Given the description of an element on the screen output the (x, y) to click on. 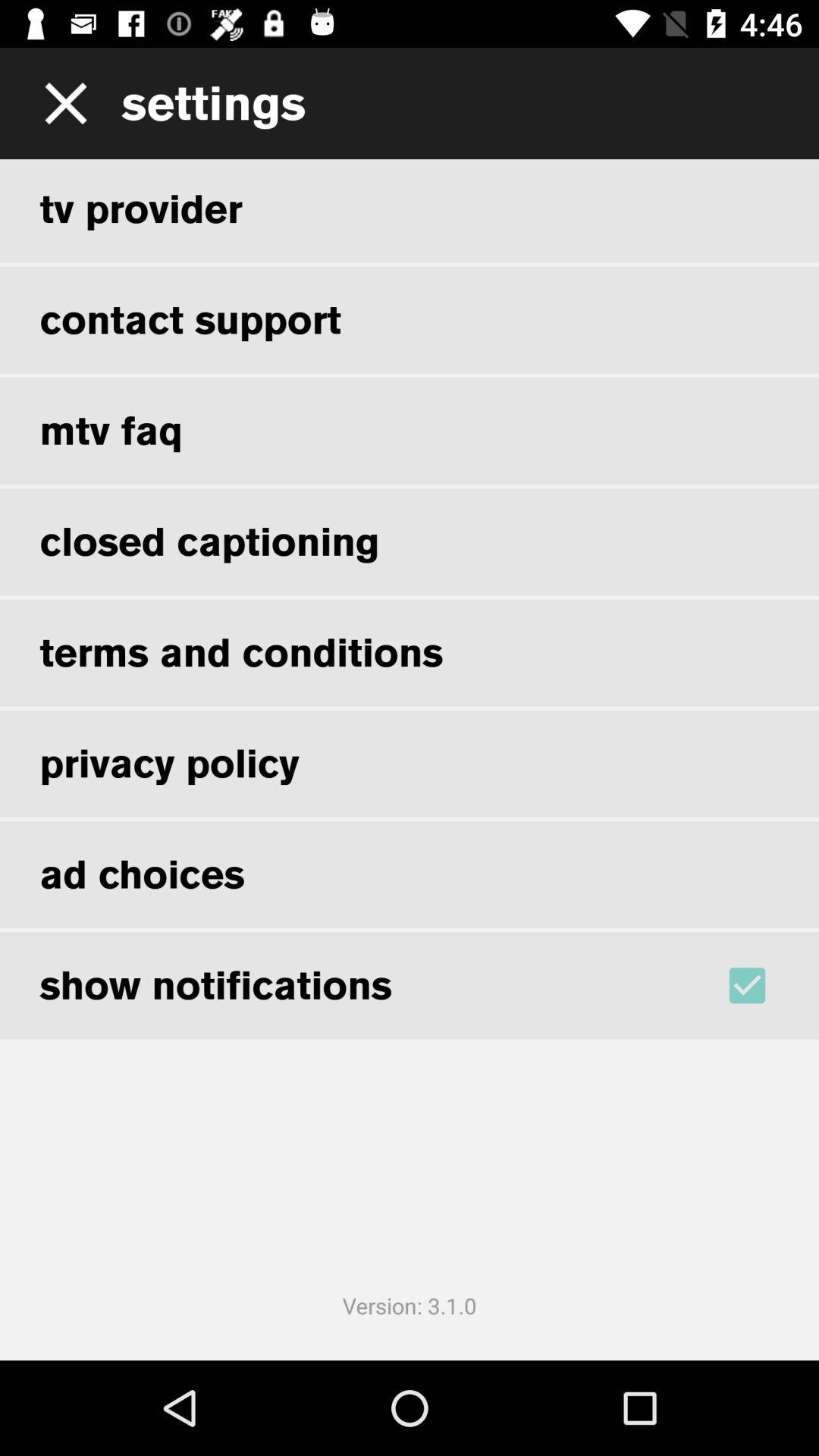
click item next to the settings item (60, 103)
